Given the description of an element on the screen output the (x, y) to click on. 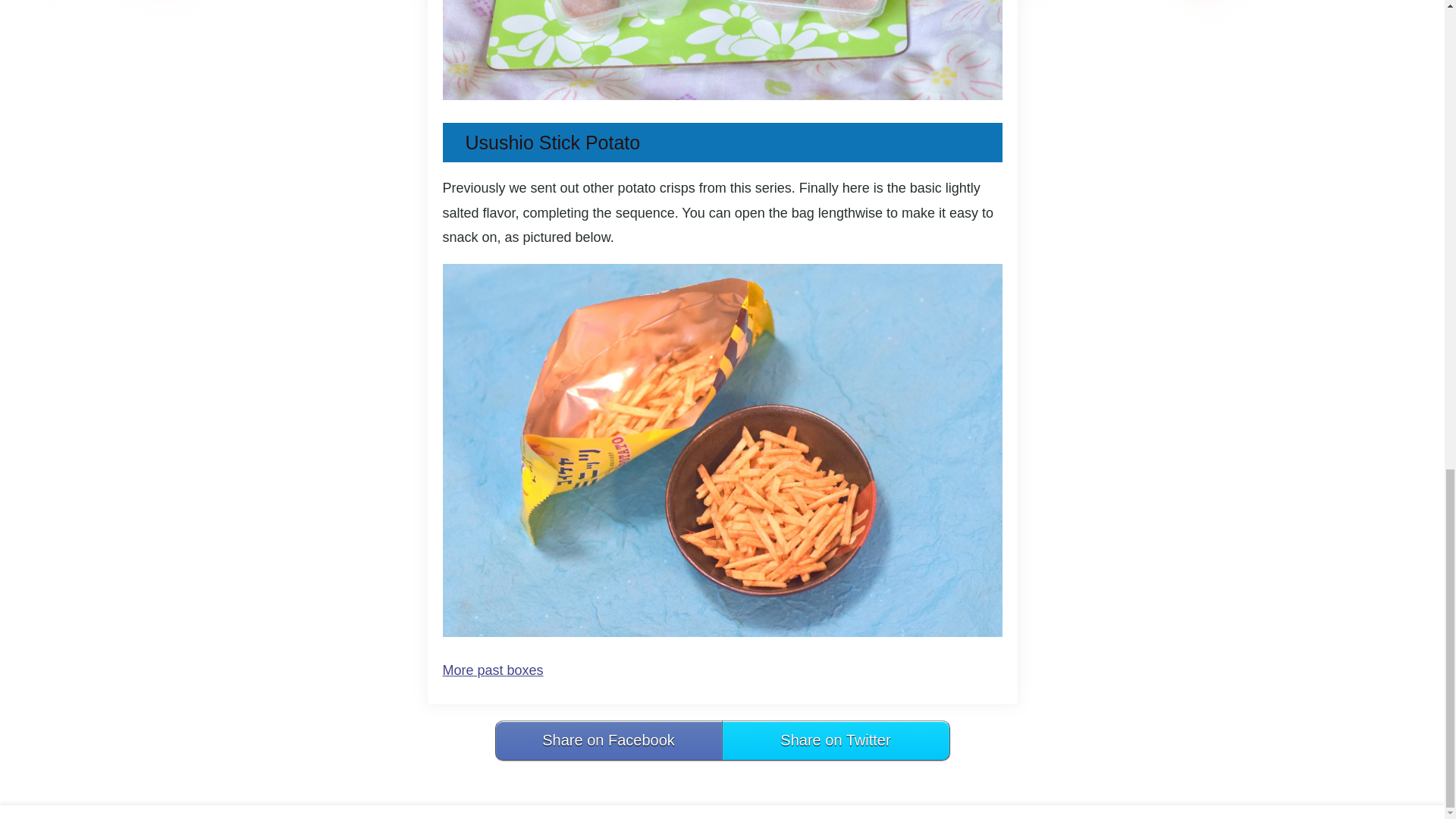
More past boxes (492, 670)
Share on Twitter (835, 740)
Share on Facebook (608, 740)
Share on Facebook (608, 740)
Share on Twitter (835, 740)
